Given the description of an element on the screen output the (x, y) to click on. 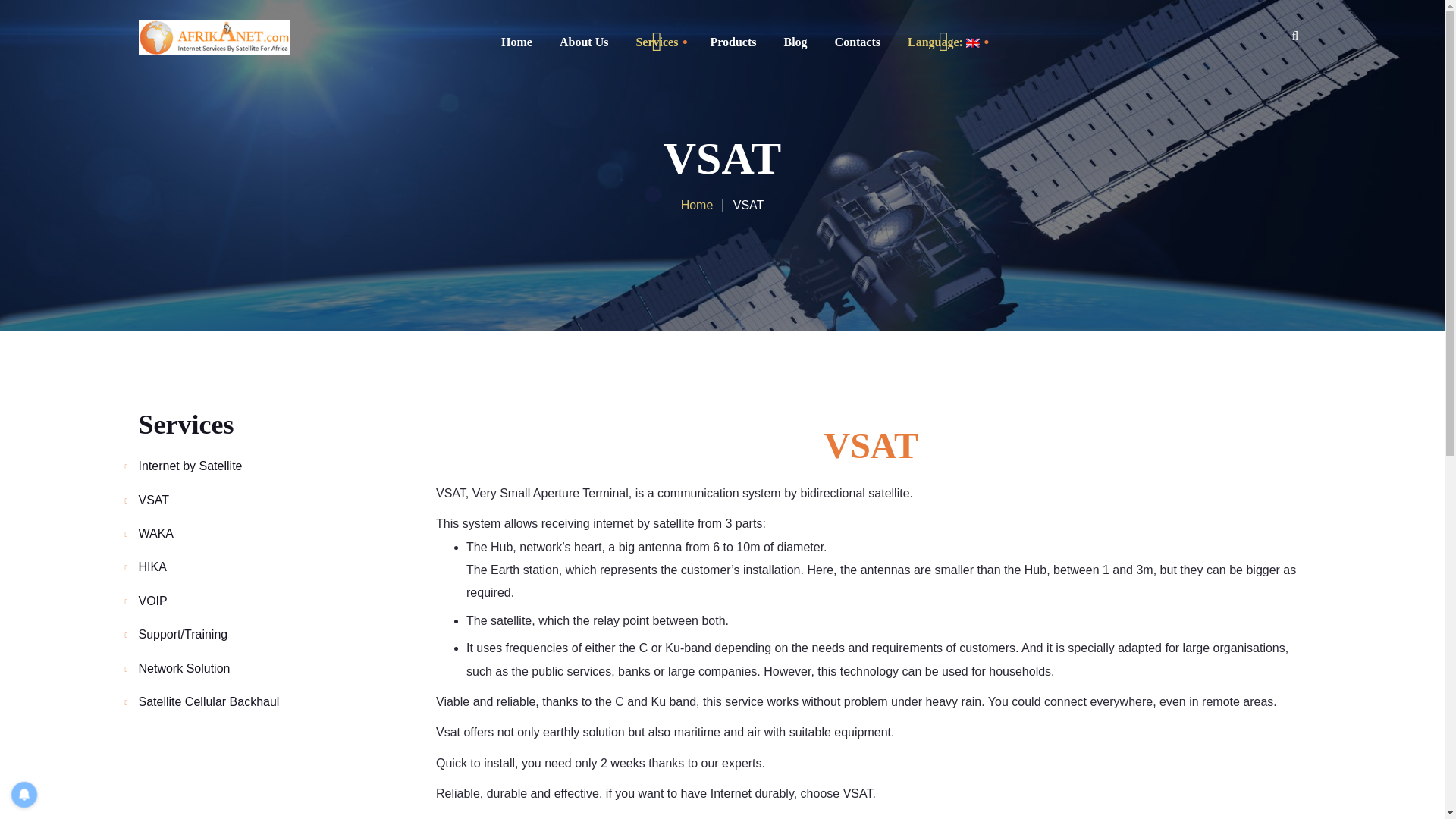
WAKA (155, 533)
Services (656, 42)
Contacts (857, 42)
Home (516, 42)
Satellite Cellular Backhaul (208, 701)
Internet by Satellite (189, 465)
VOIP (152, 600)
VSAT (722, 158)
About Us (583, 42)
English (936, 42)
VSAT (153, 499)
Network Solution (184, 667)
Language:  (936, 42)
Products (732, 42)
Go to Home. (697, 205)
